Given the description of an element on the screen output the (x, y) to click on. 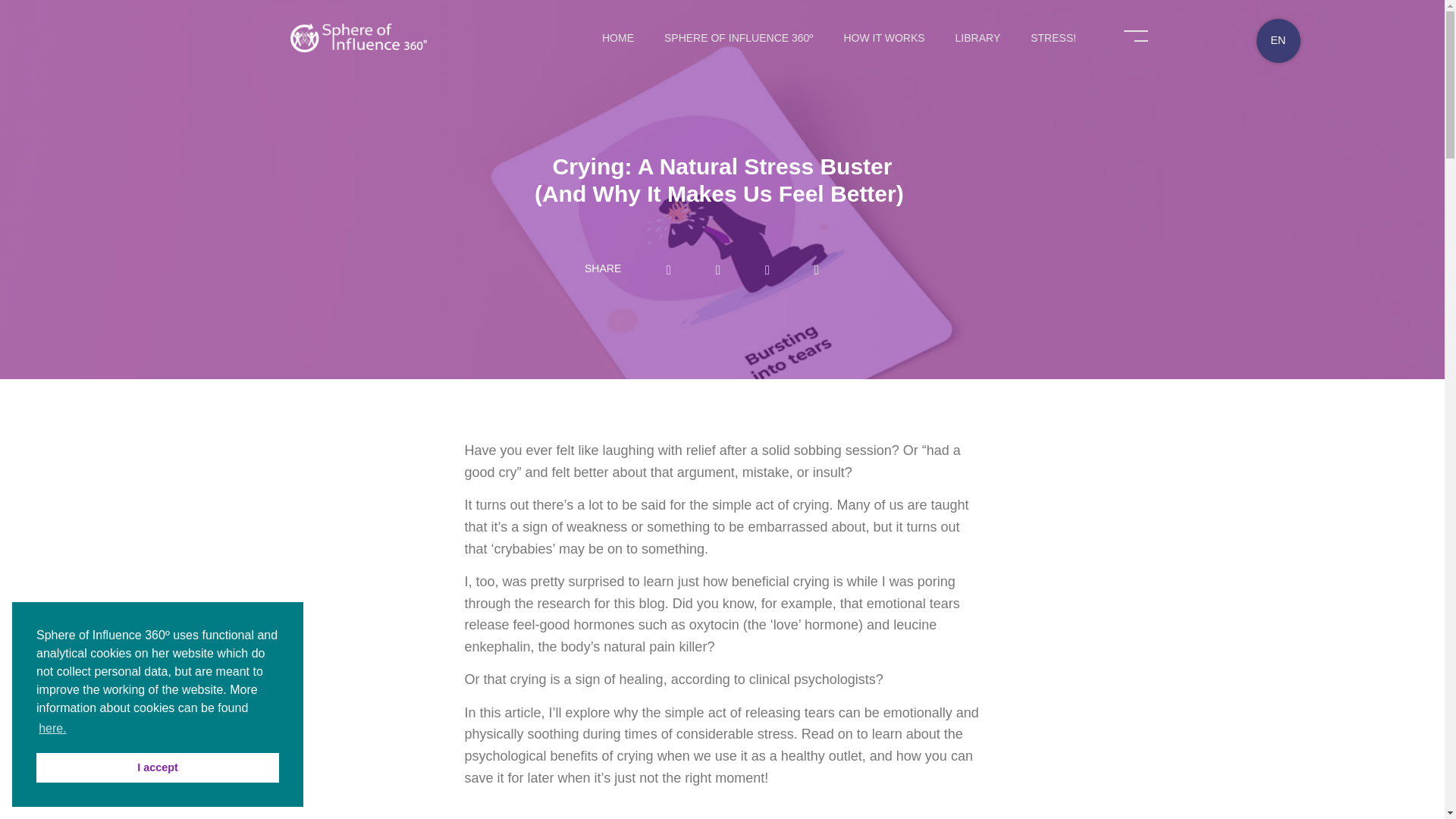
STRESS! (1052, 37)
HOME (617, 37)
LIBRARY (978, 37)
HOW IT WORKS (883, 37)
I accept (157, 767)
here. (52, 728)
